Given the description of an element on the screen output the (x, y) to click on. 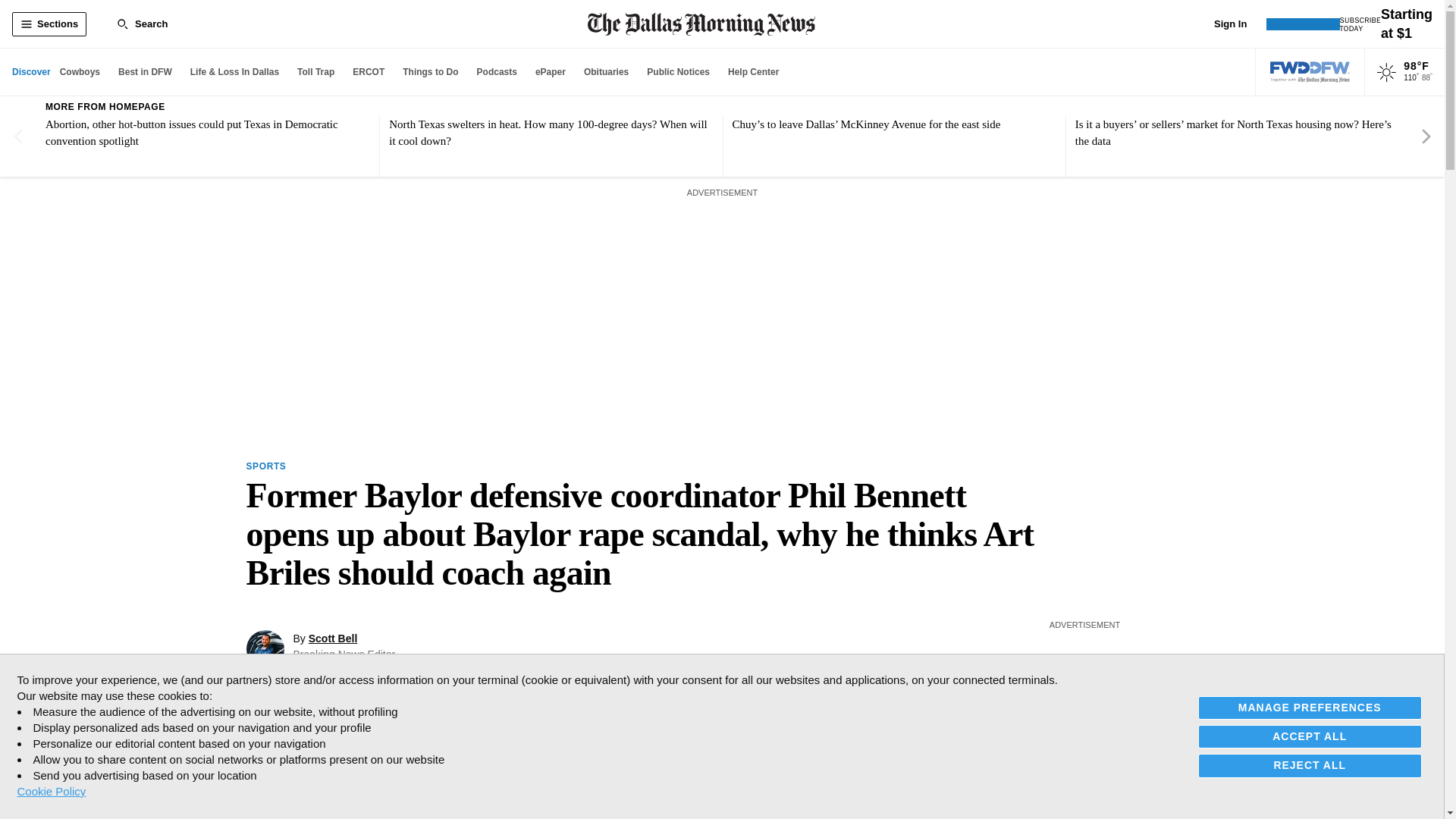
ACCEPT ALL (1310, 736)
REJECT ALL (1310, 765)
Clear sky (1386, 72)
FWD DFW, Together with The Dallas Morning News (1310, 72)
MANAGE PREFERENCES (1310, 707)
Cookie Policy (50, 790)
